Given the description of an element on the screen output the (x, y) to click on. 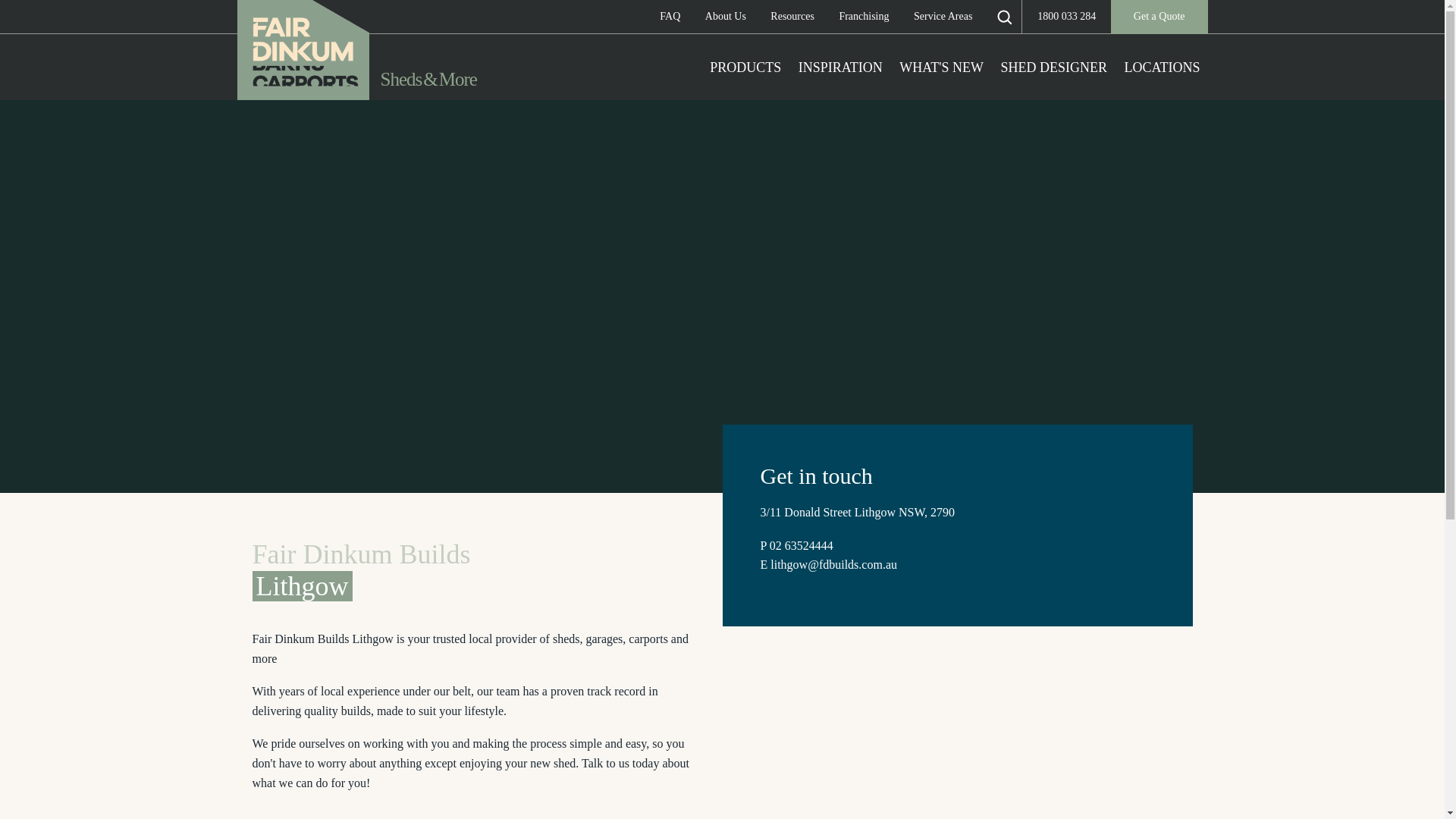
1800 033 284 (1067, 17)
SHED DESIGNER (1053, 67)
Go (24, 18)
Service Areas (943, 16)
Franchising (863, 16)
Resources (791, 16)
INSPIRATION (839, 67)
PRODUCTS (745, 67)
About Us (724, 16)
Get a Quote (1159, 17)
